Given the description of an element on the screen output the (x, y) to click on. 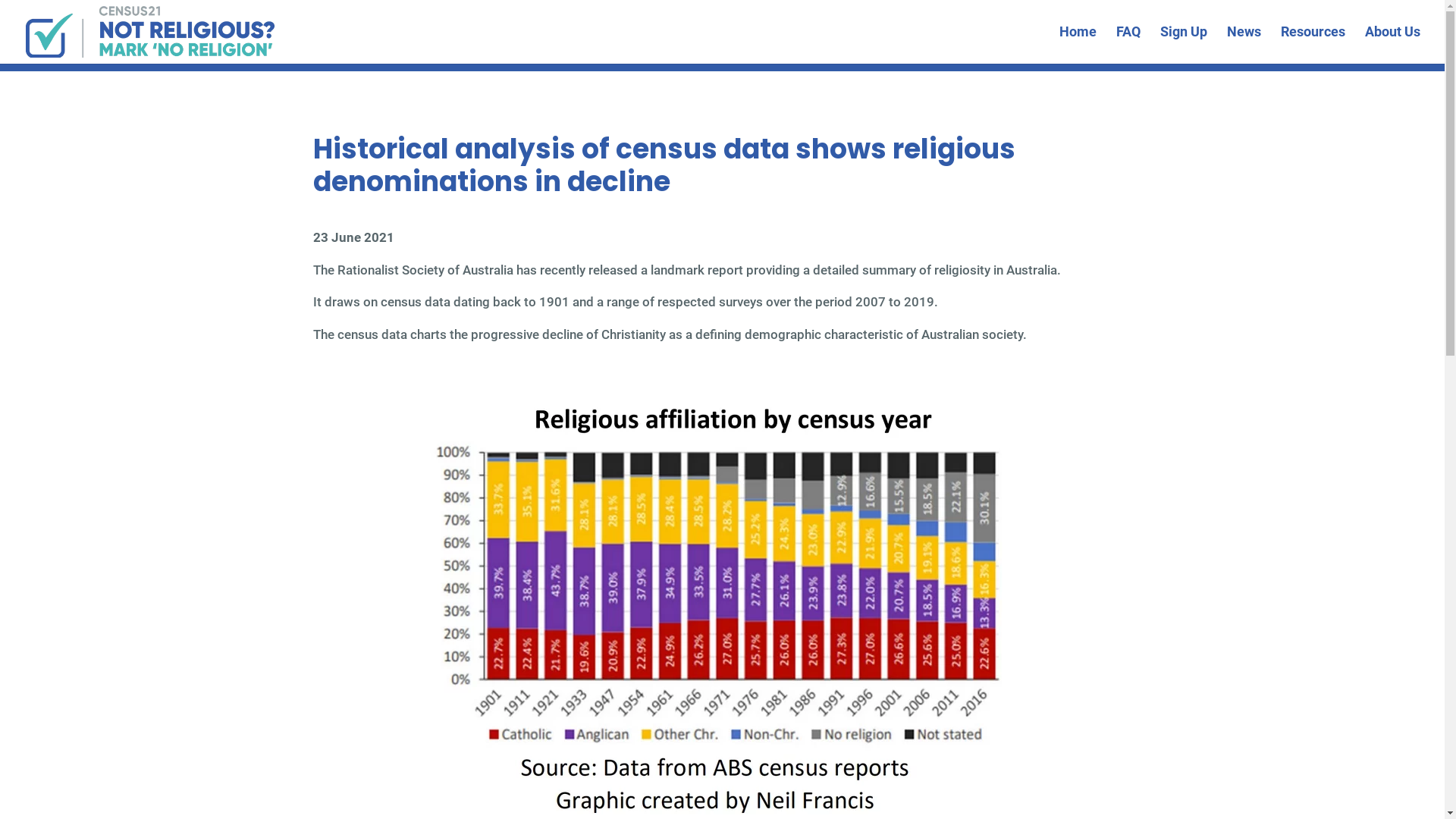
Sign Up Element type: text (1183, 44)
Resources Element type: text (1312, 44)
About Us Element type: text (1392, 44)
FAQ Element type: text (1128, 44)
Home Element type: text (1077, 44)
News Element type: text (1243, 44)
